Given the description of an element on the screen output the (x, y) to click on. 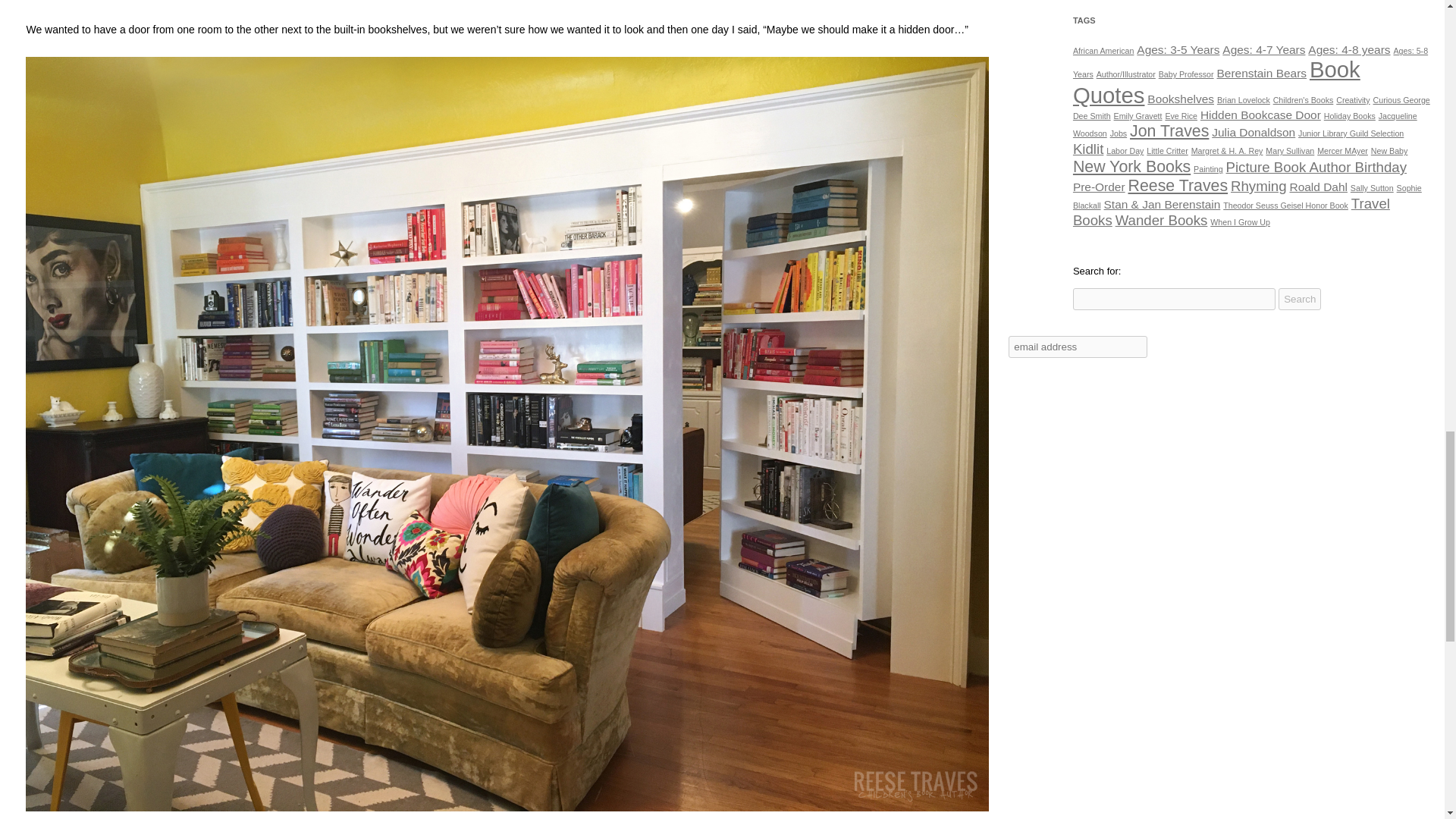
Search (1299, 299)
